Given the description of an element on the screen output the (x, y) to click on. 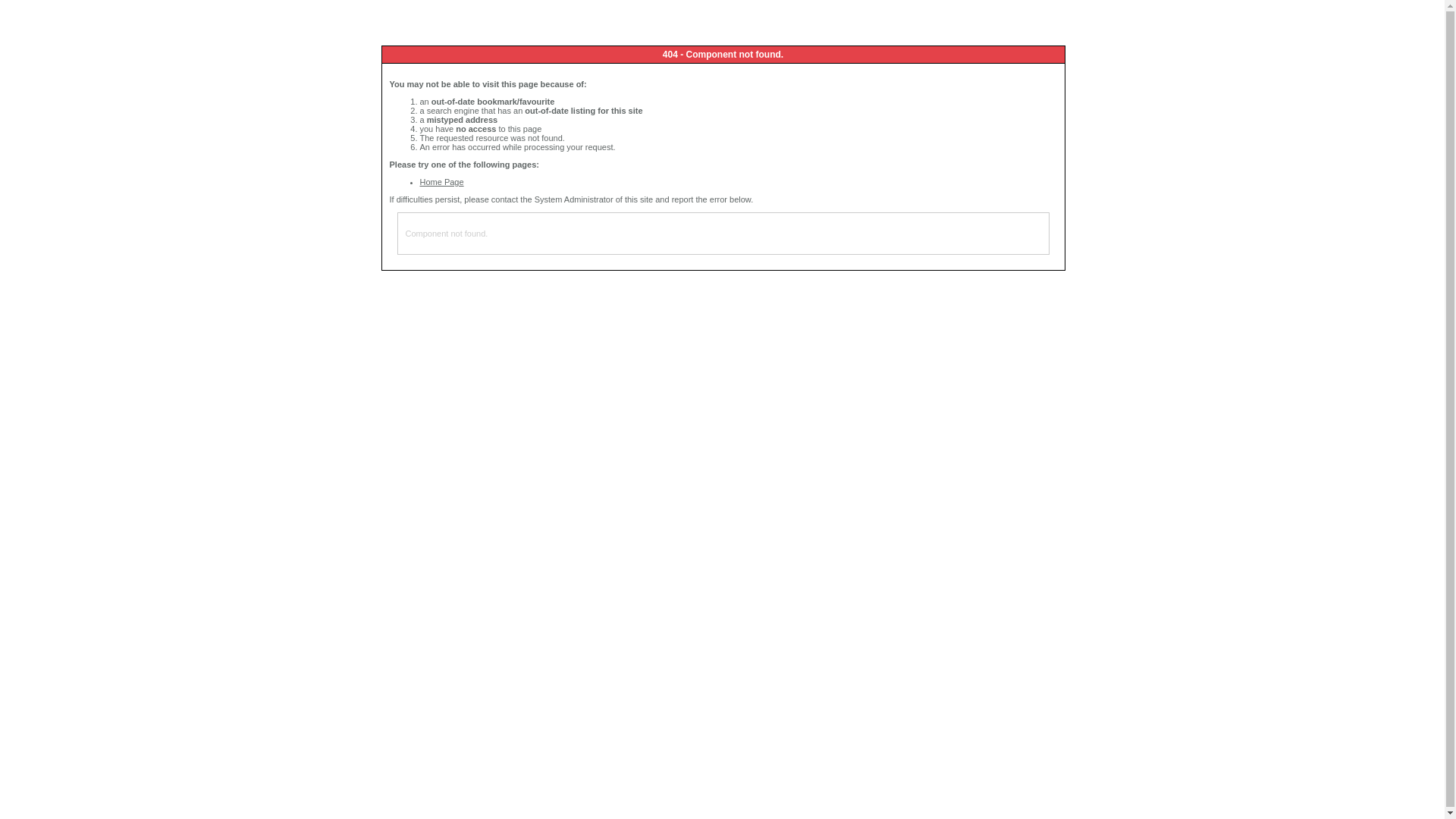
Home Page Element type: text (442, 181)
